Given the description of an element on the screen output the (x, y) to click on. 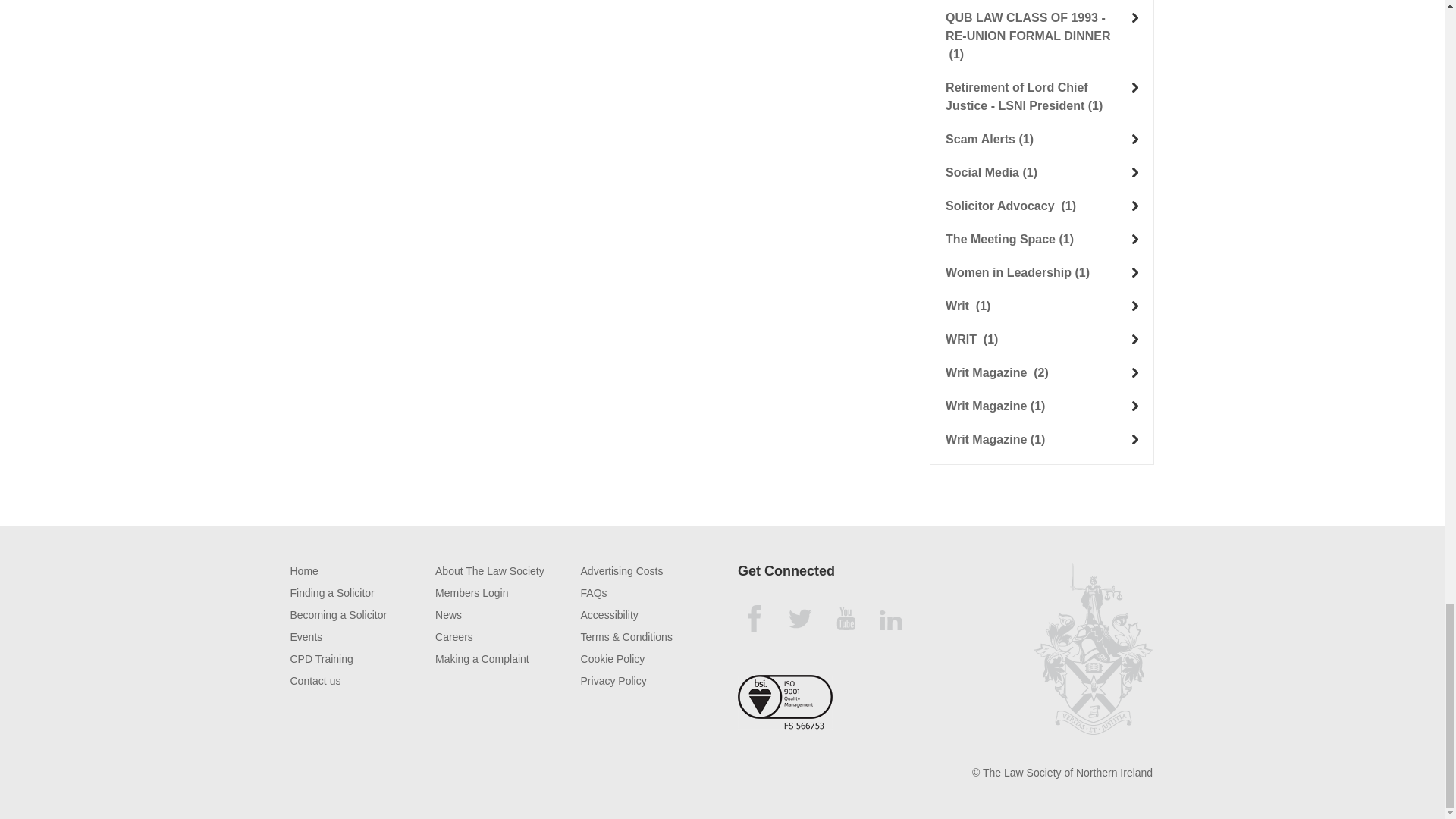
Follow us on Twitter (799, 618)
Follow us on Youtube (845, 618)
Follow us on Facebook (754, 618)
Connect with us on LinkedIn (891, 618)
